Given the description of an element on the screen output the (x, y) to click on. 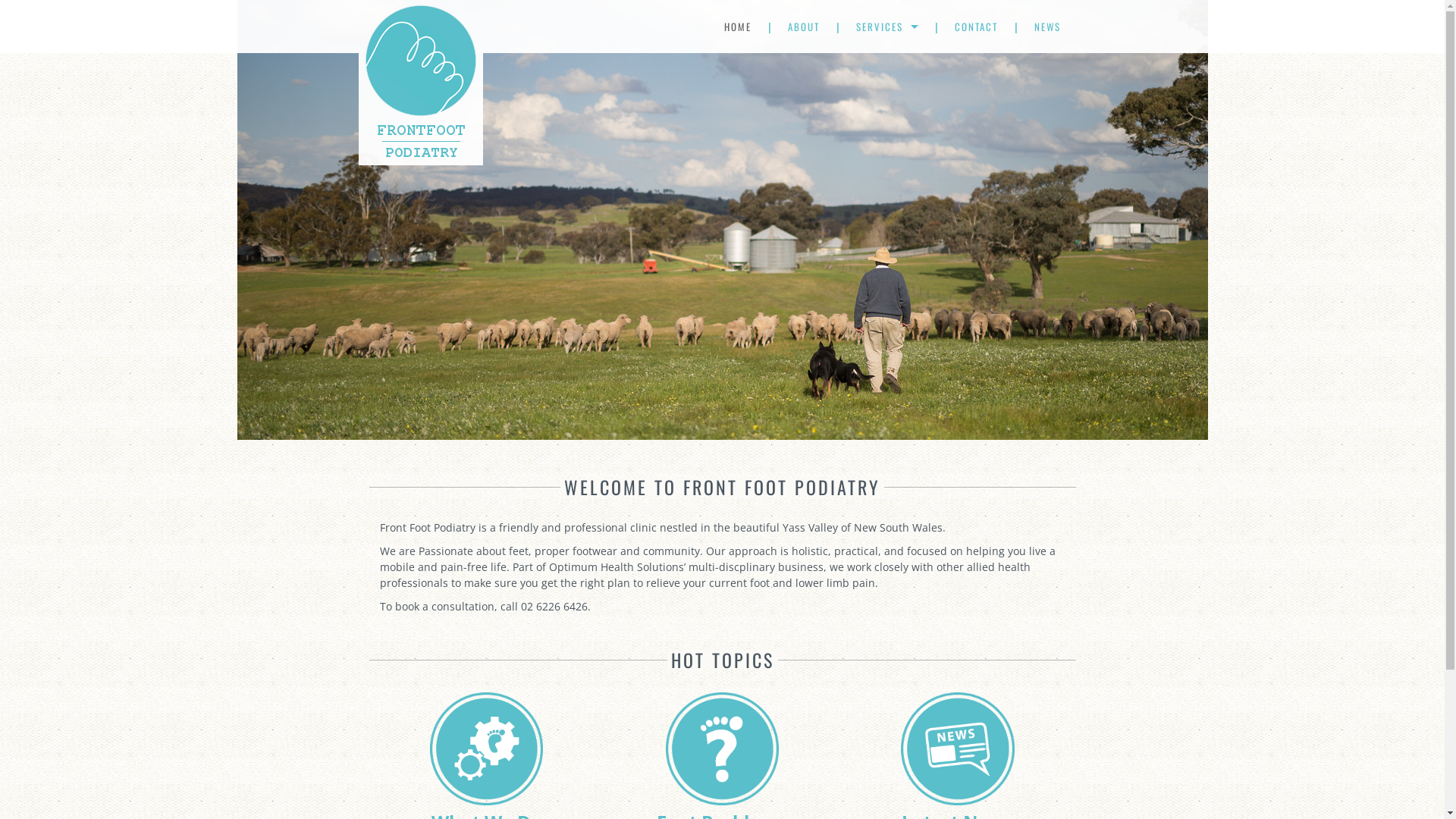
CONTACT Element type: text (975, 26)
NEWS Element type: text (1047, 26)
ABOUT Element type: text (803, 26)
SERVICES Element type: text (886, 26)
HOME Element type: text (737, 26)
WHAT WE DO Element type: text (849, 68)
